Given the description of an element on the screen output the (x, y) to click on. 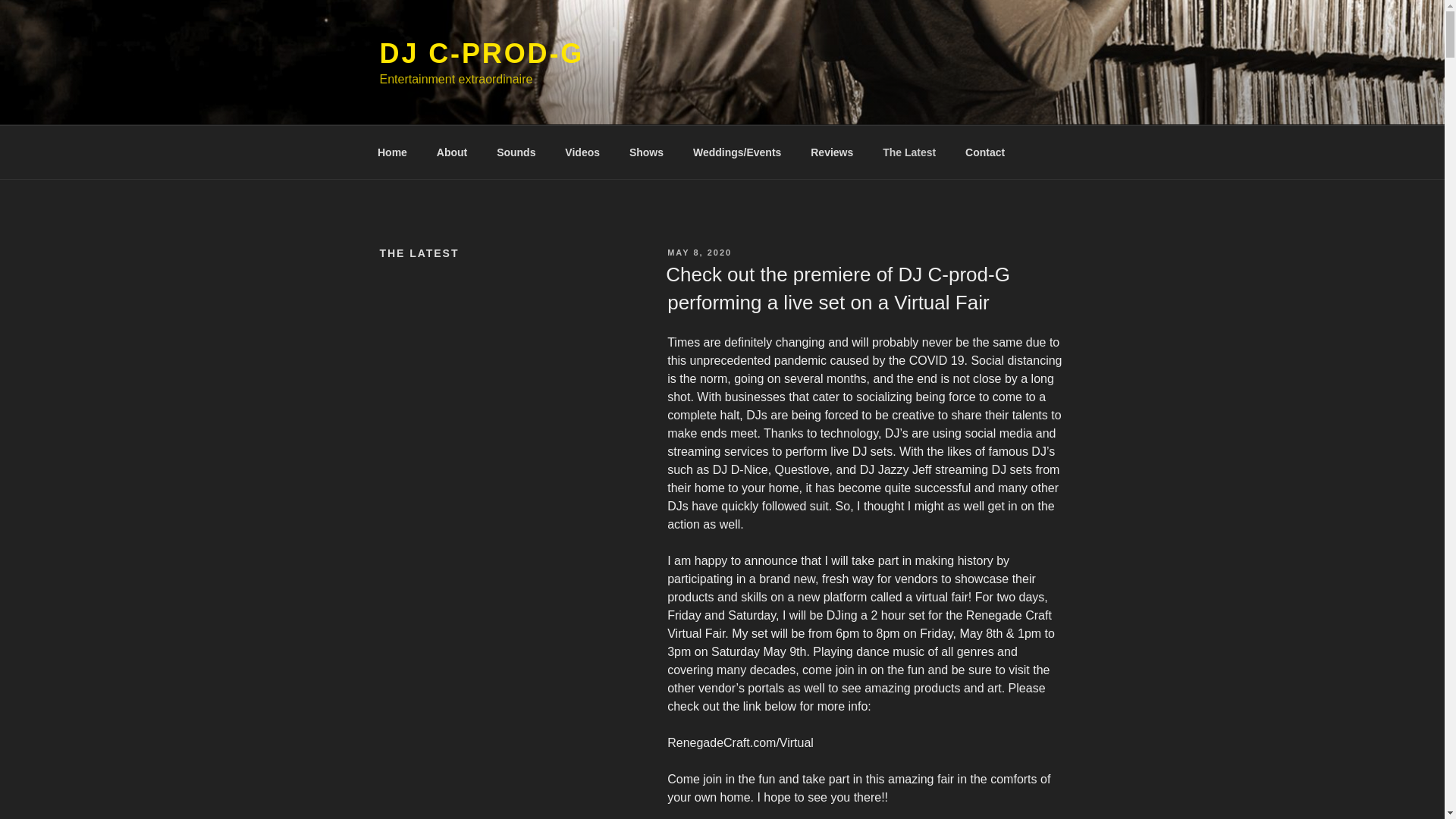
Sounds (515, 151)
About (451, 151)
DJ C-PROD-G (480, 52)
Home (392, 151)
MAY 8, 2020 (699, 252)
Reviews (831, 151)
Shows (646, 151)
Contact (984, 151)
